Given the description of an element on the screen output the (x, y) to click on. 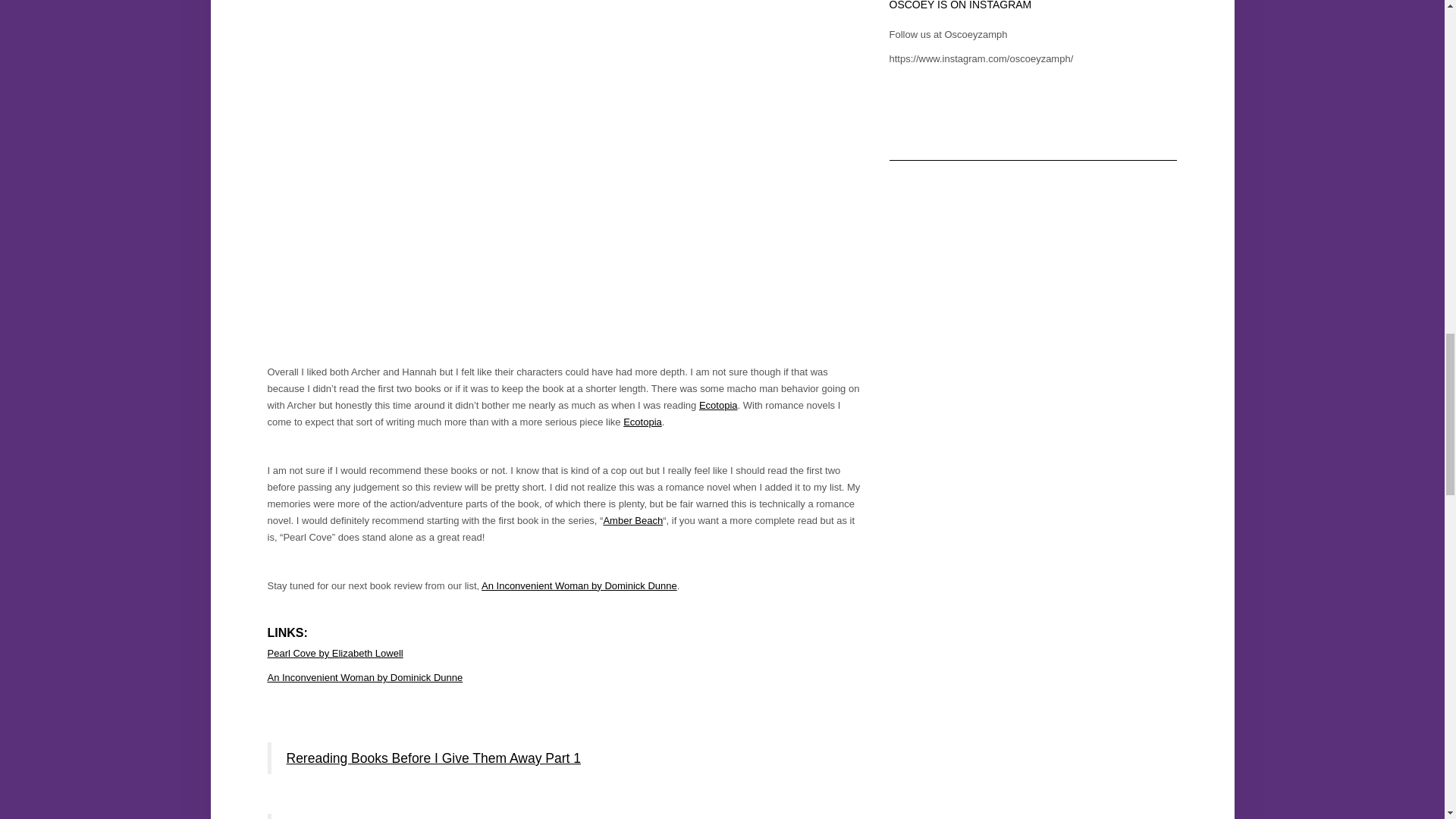
Ecotopia (718, 405)
Ecotopia (642, 421)
An Inconvenient Woman by Dominick Dunne (579, 585)
Amber Beach (632, 520)
Pearl Cove by Elizabeth Lowell (334, 653)
An Inconvenient Woman by Dominick Dunne (364, 677)
Rereading Books Before I Give Them Away Part 1 (433, 758)
